Given the description of an element on the screen output the (x, y) to click on. 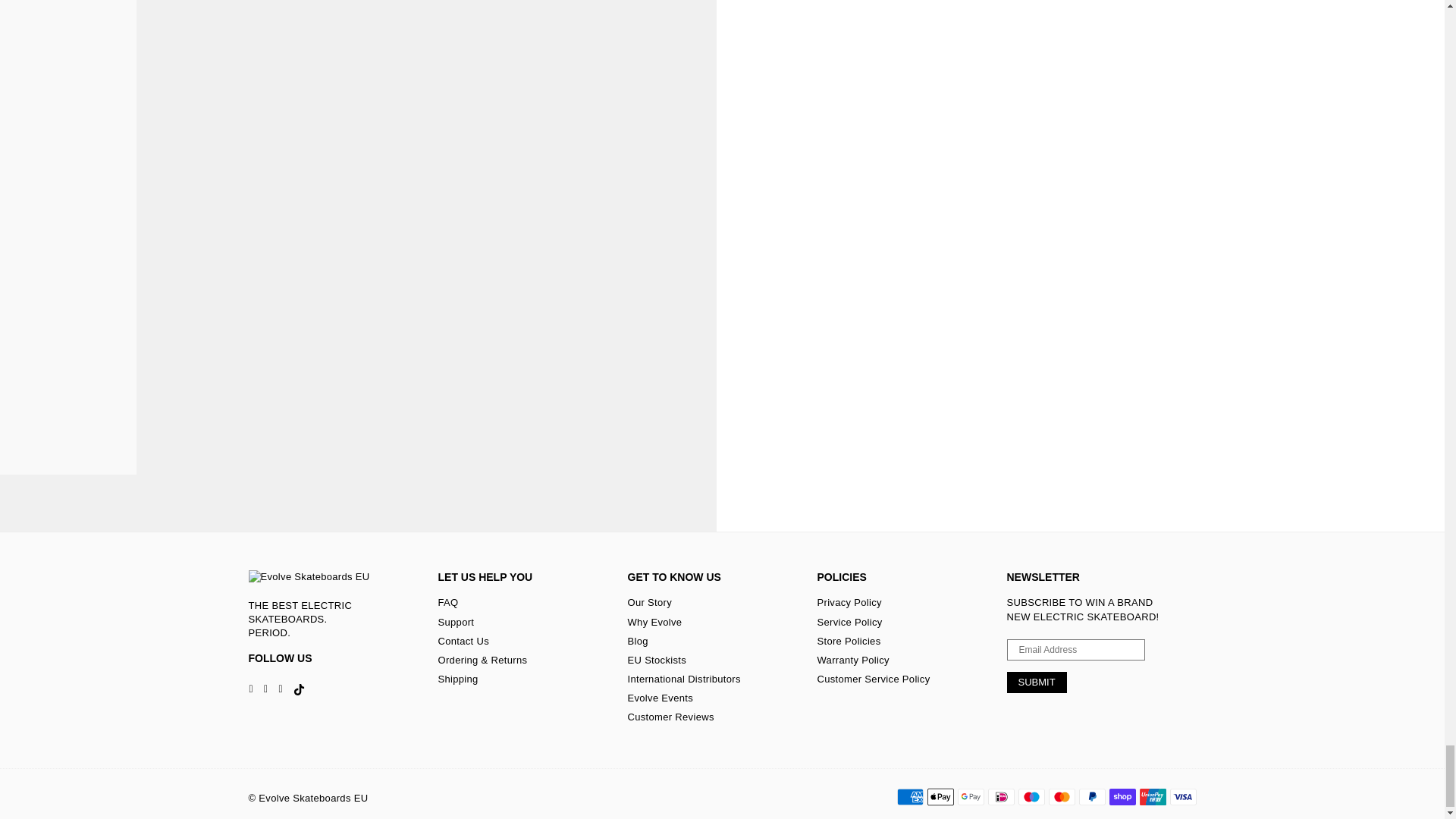
PayPal (1091, 796)
Shop Pay (1121, 796)
Evolve Skateboards EU on Facebook (251, 689)
Apple Pay (939, 796)
Union Pay (1152, 796)
Google Pay (970, 796)
Evolve Skateboards EU on TikTok (299, 689)
Evolve Skateboards EU on Instagram (266, 689)
Mastercard (1061, 796)
American Express (909, 796)
iDEAL (1000, 796)
Evolve Skateboards EU on YouTube (279, 689)
Maestro (1030, 796)
Visa (1182, 796)
